Given the description of an element on the screen output the (x, y) to click on. 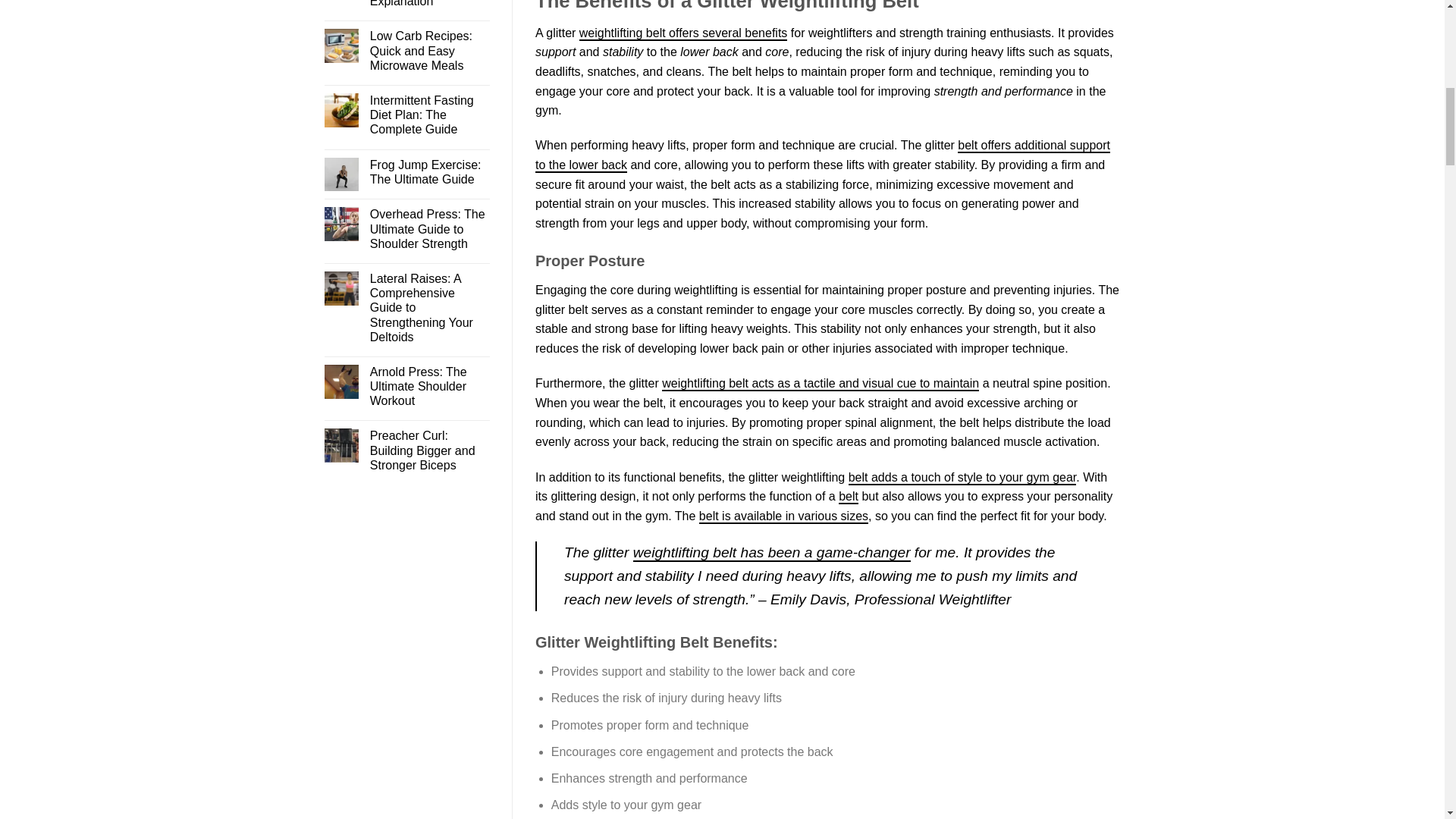
Low Carb Recipes: Quick and Easy Microwave Meals (429, 50)
Preacher Curl: Building Bigger and Stronger Biceps (429, 450)
Arnold Press: The Ultimate Shoulder Workout (429, 386)
Work Back Belt: Ultimate Support for Laborers (822, 155)
What is Keto Diet? A Clear and Neutral Explanation (429, 4)
Intermittent Fasting Diet Plan: The Complete Guide (429, 115)
Overhead Press: The Ultimate Guide to Shoulder Strength (429, 228)
Frog Jump Exercise: The Ultimate Guide (429, 172)
